Given the description of an element on the screen output the (x, y) to click on. 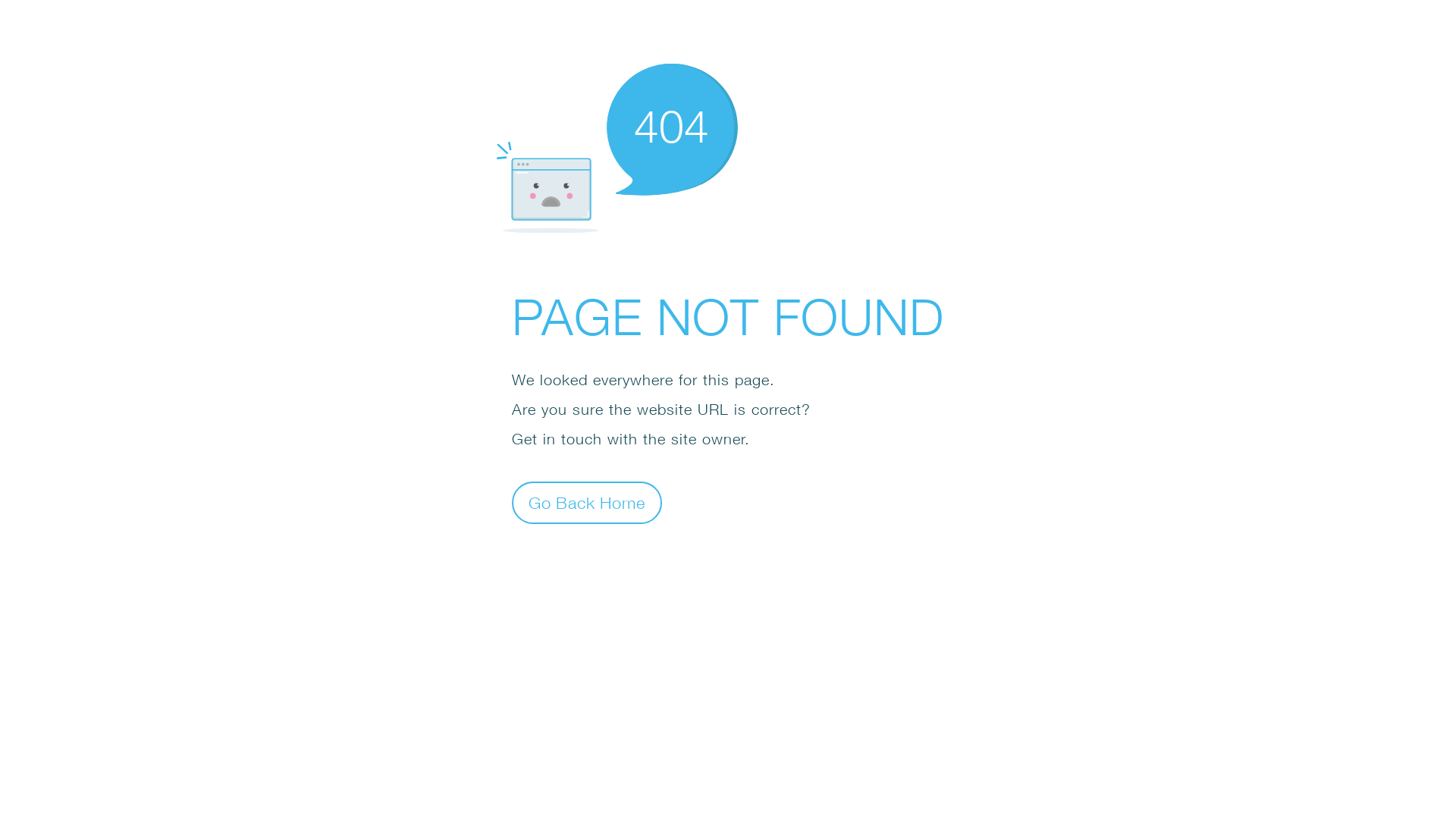
Go Back Home Element type: text (586, 502)
